Given the description of an element on the screen output the (x, y) to click on. 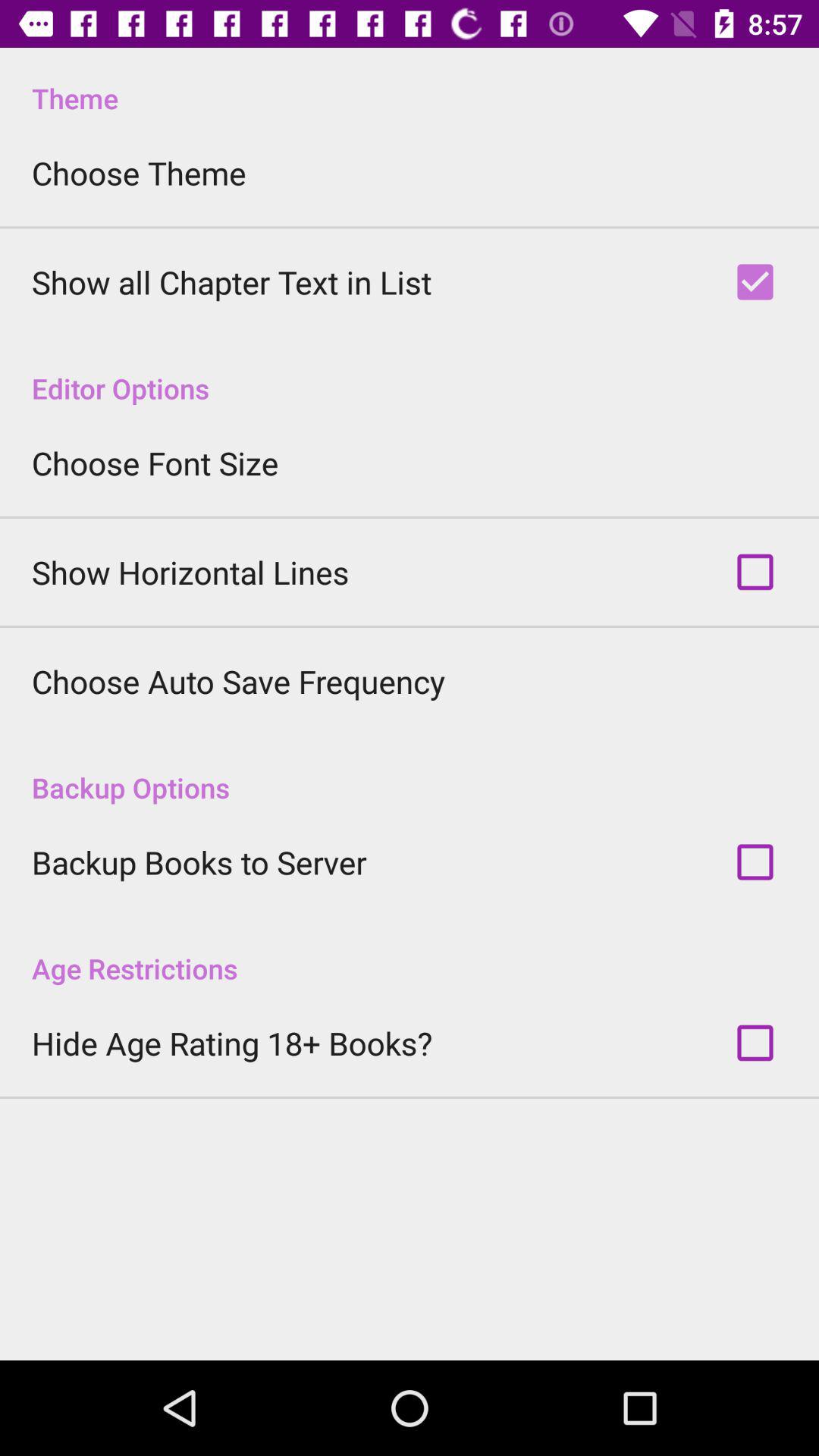
launch the age restrictions app (409, 952)
